Given the description of an element on the screen output the (x, y) to click on. 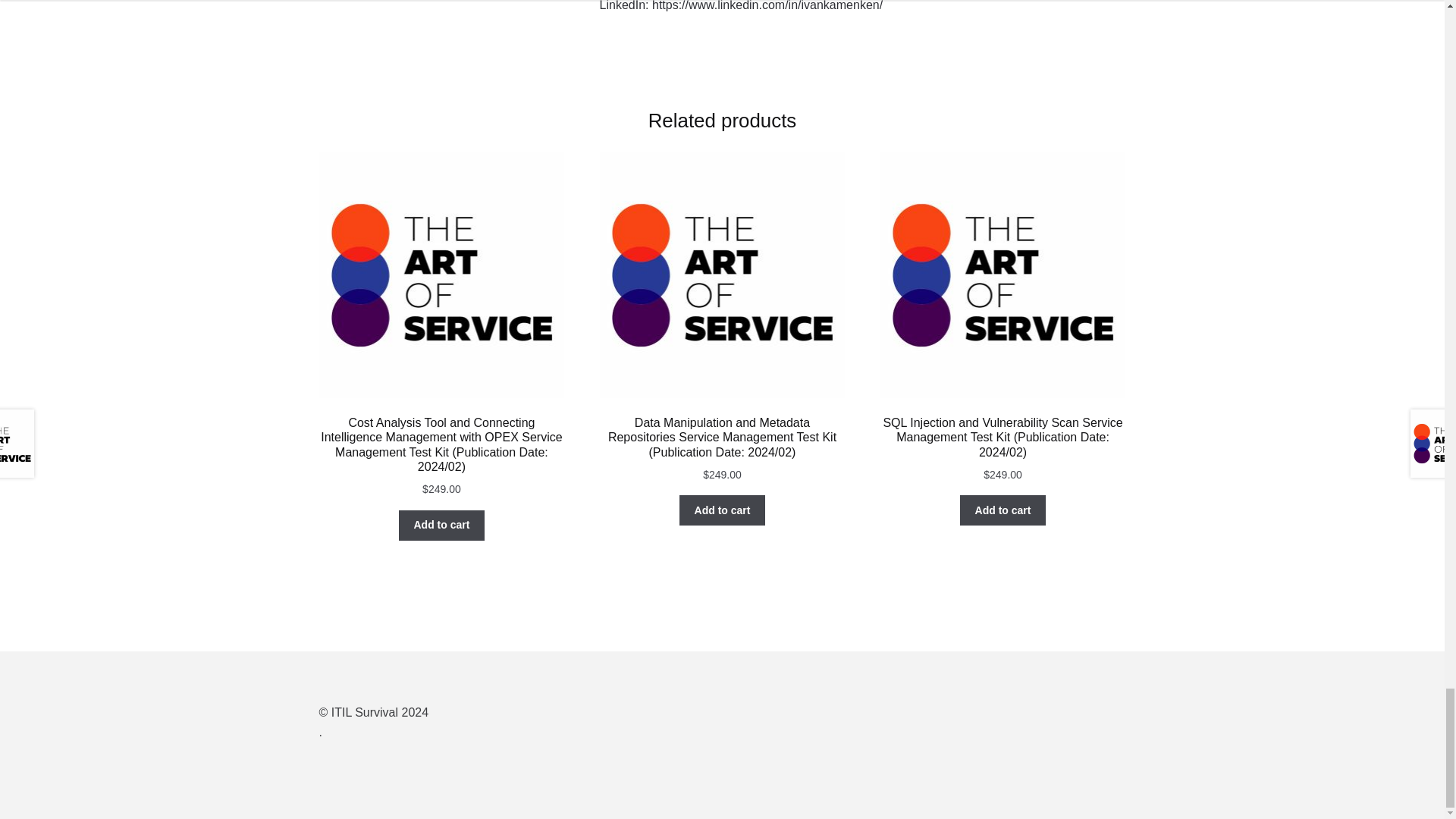
Add to cart (441, 525)
Add to cart (1002, 510)
Add to cart (722, 510)
